Given the description of an element on the screen output the (x, y) to click on. 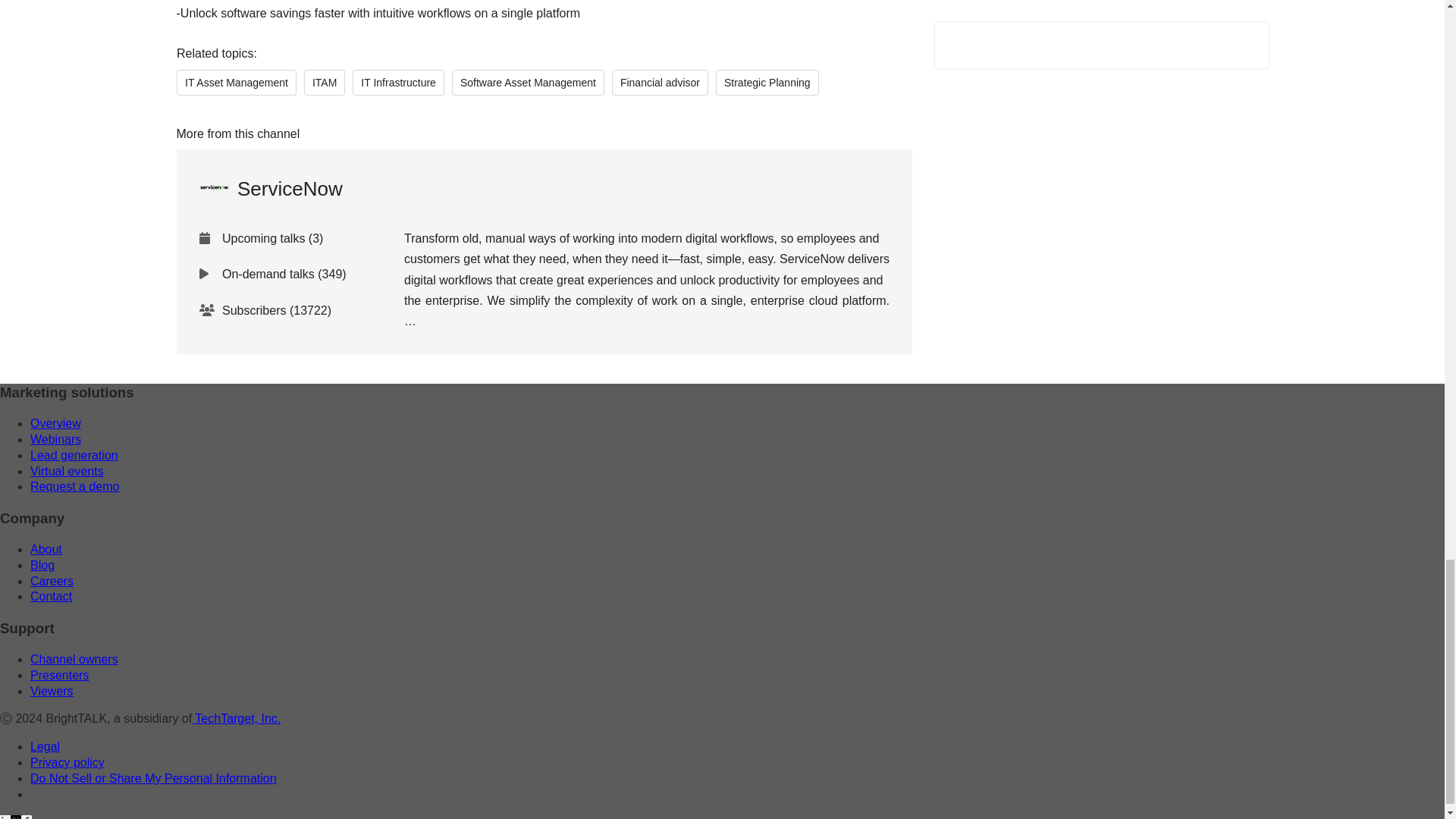
IT Asset Management (235, 82)
ServiceNow (270, 188)
Software Asset Management (527, 82)
Visit ServiceNow's channel (270, 188)
ITAM (322, 82)
Strategic Planning (766, 82)
Financial advisor (659, 82)
IT Infrastructure (398, 82)
